Given the description of an element on the screen output the (x, y) to click on. 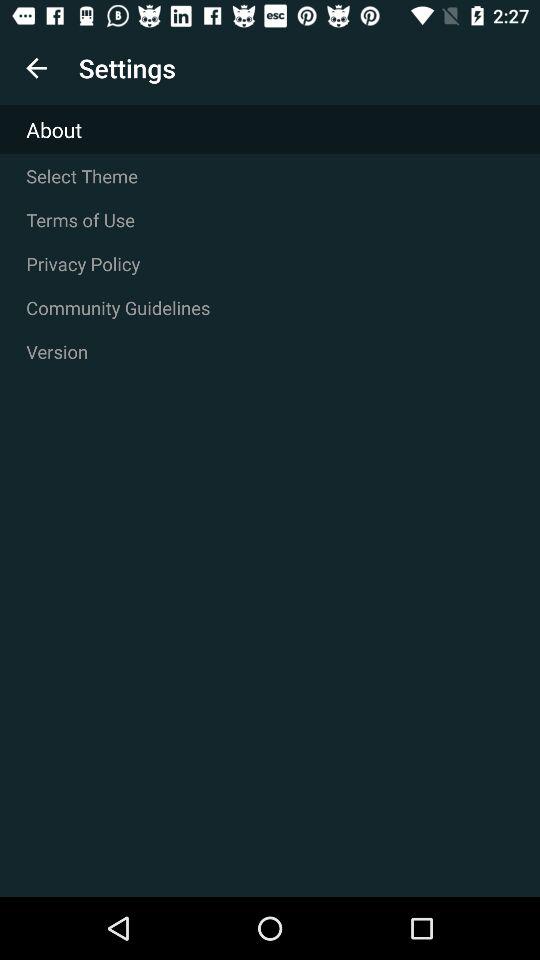
choose select theme (270, 176)
